Given the description of an element on the screen output the (x, y) to click on. 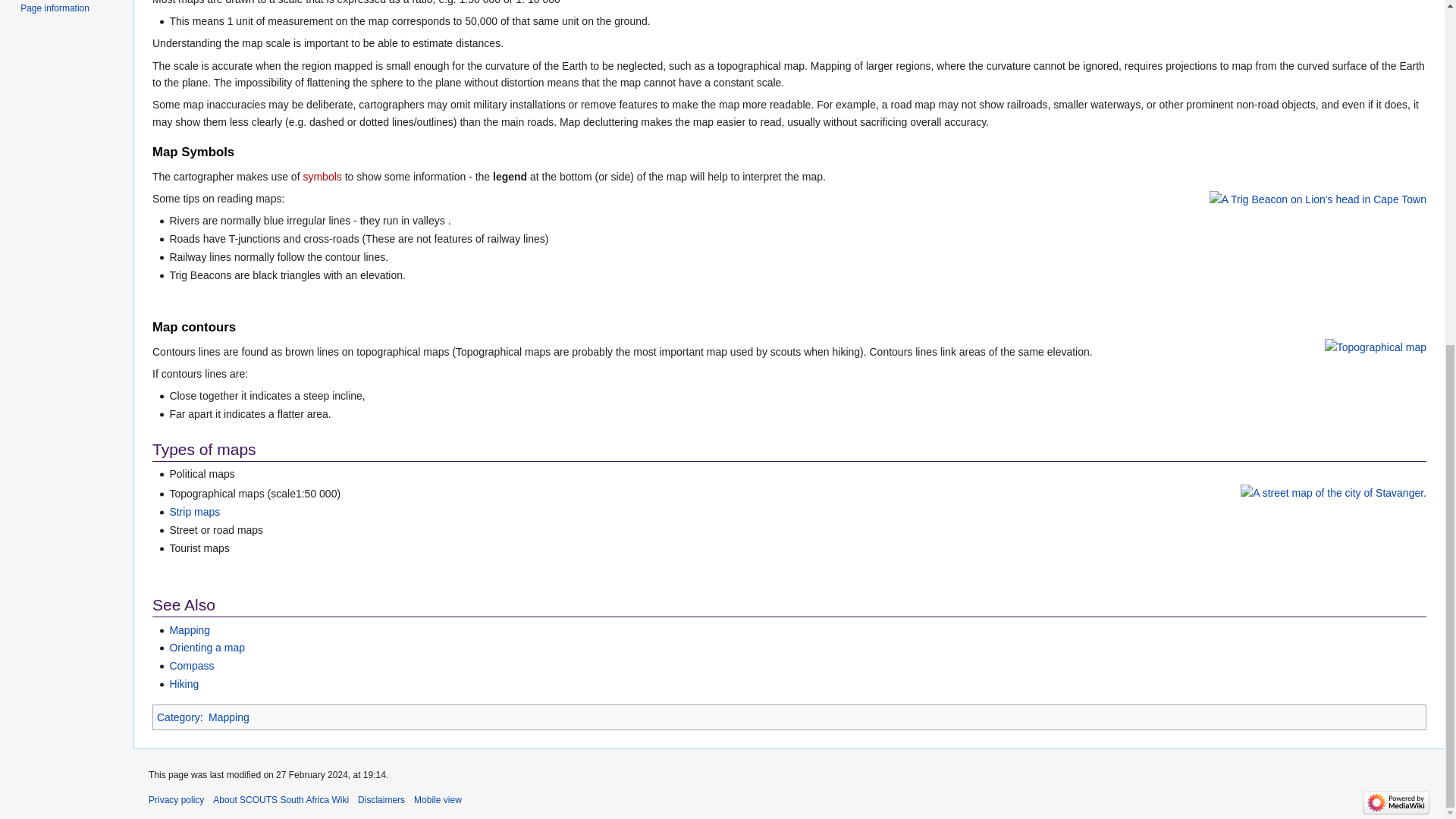
Orienting a map (206, 647)
Hiking (183, 684)
A street map of the city of Stavanger. (1333, 491)
Mapping (188, 630)
Topographical map (1375, 346)
Hiking (183, 684)
Strip maps (193, 511)
Compass (191, 665)
Special:Categories (178, 717)
Mapping (228, 717)
Category:Mapping (228, 717)
Orienting a map (206, 647)
A Trig Beacon on Lion's head in Cape Town (1317, 198)
Mapping (188, 630)
Compass (191, 665)
